Given the description of an element on the screen output the (x, y) to click on. 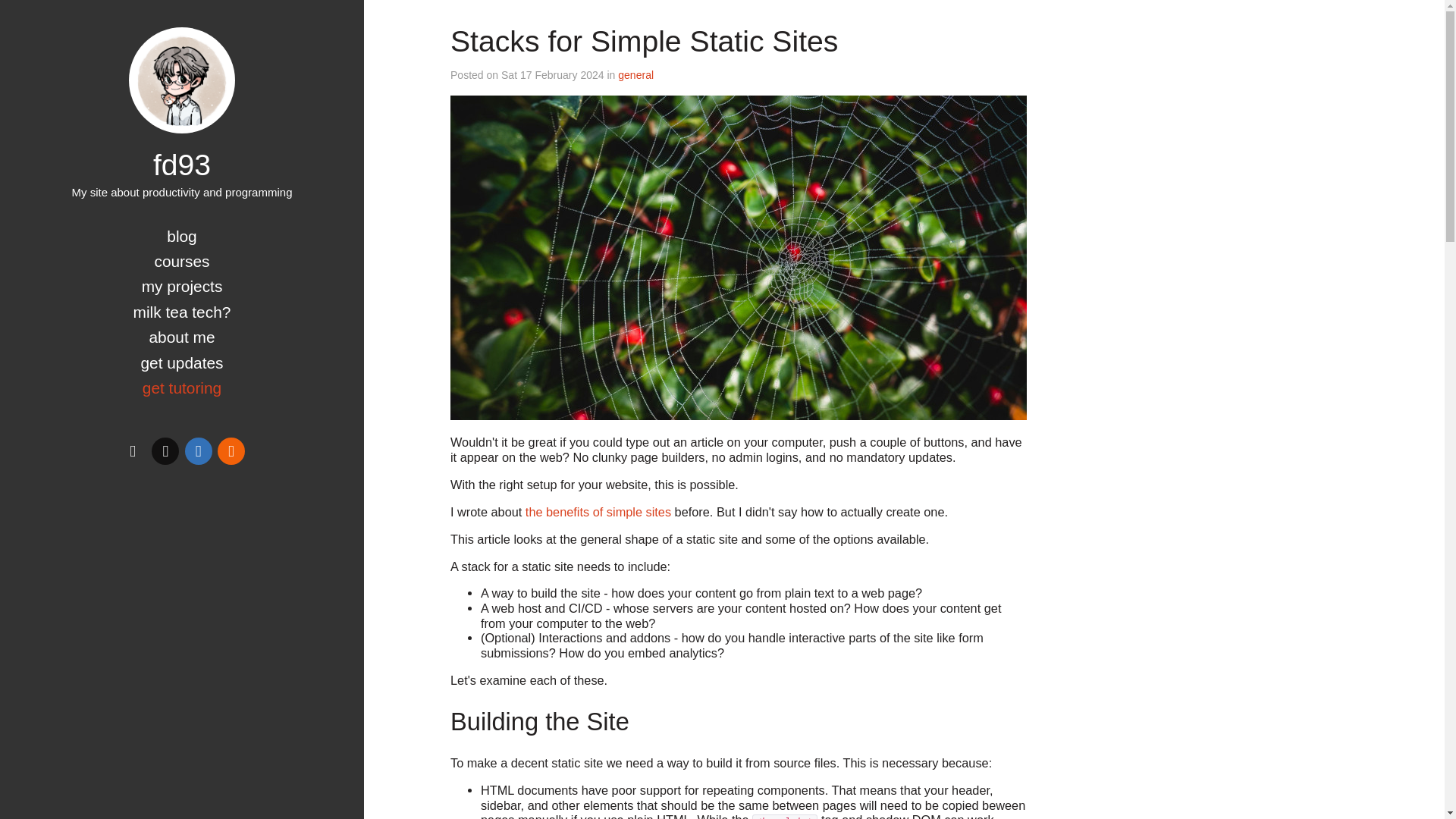
get updates (180, 362)
fd93 (181, 164)
general (635, 74)
the benefits of simple sites (598, 511)
get tutoring (181, 387)
blog (181, 235)
my projects (181, 285)
milk tea tech? (182, 312)
fd93 (181, 80)
about me (181, 336)
